Given the description of an element on the screen output the (x, y) to click on. 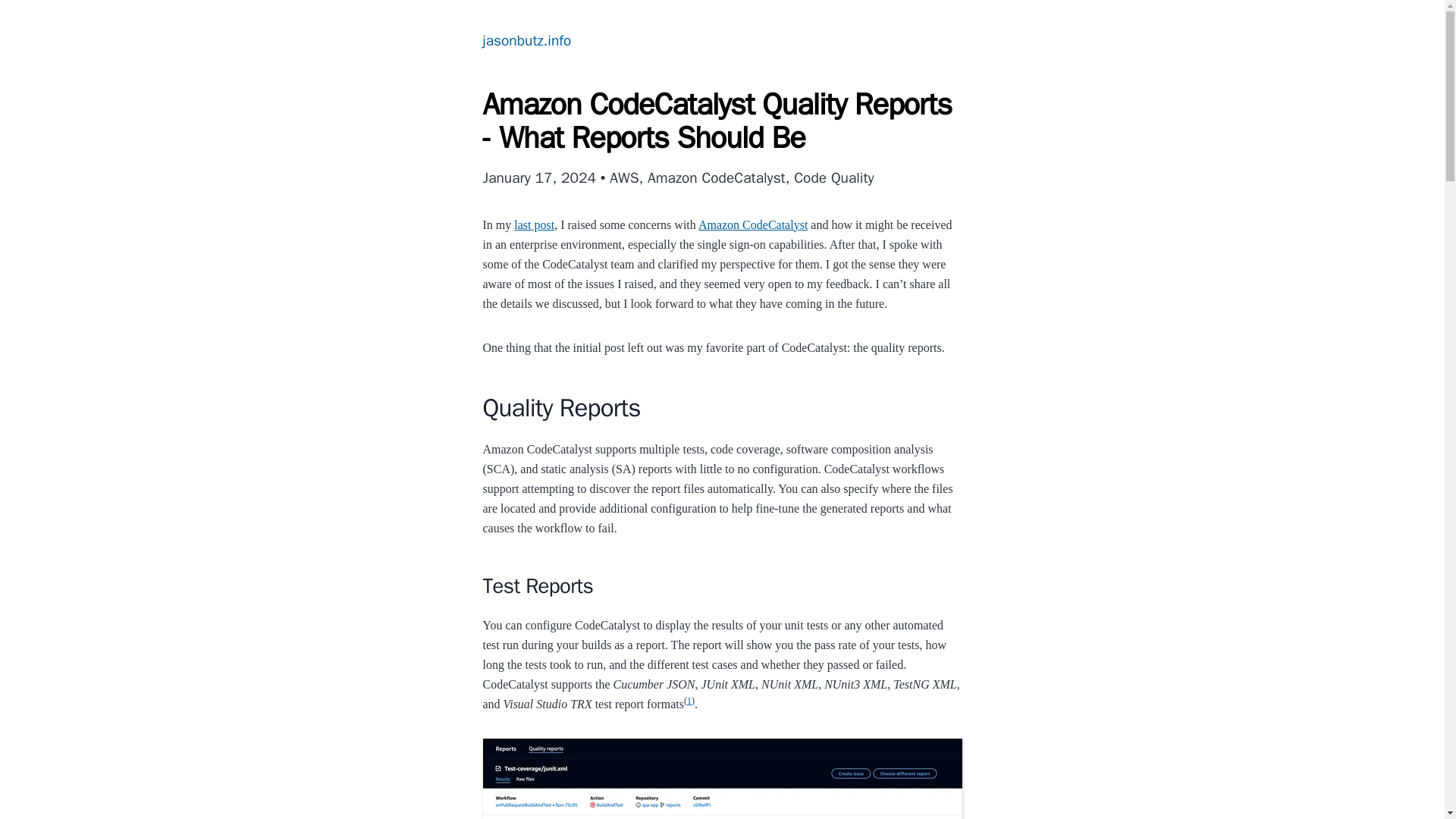
jasonbutz.info (525, 40)
last post (533, 224)
Amazon CodeCatalyst (753, 224)
Amazon CodeCatalyst - Is it ready for the enterprise? (533, 224)
Amazon CodeCatalyst (753, 224)
